Given the description of an element on the screen output the (x, y) to click on. 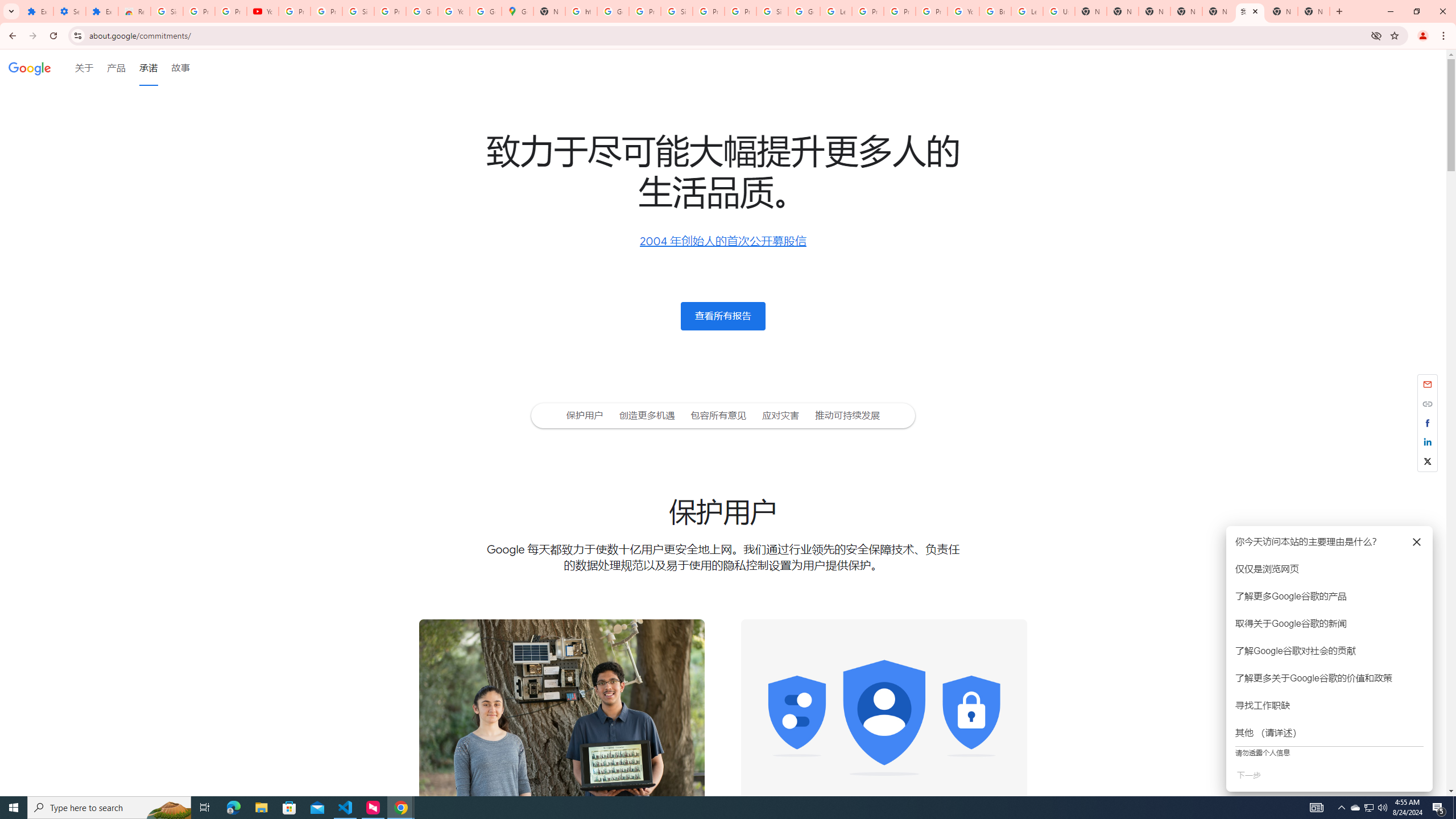
YouTube (963, 11)
New Tab (1313, 11)
Browse Chrome as a guest - Computer - Google Chrome Help (995, 11)
Sign in - Google Accounts (676, 11)
Google Maps (517, 11)
